Given the description of an element on the screen output the (x, y) to click on. 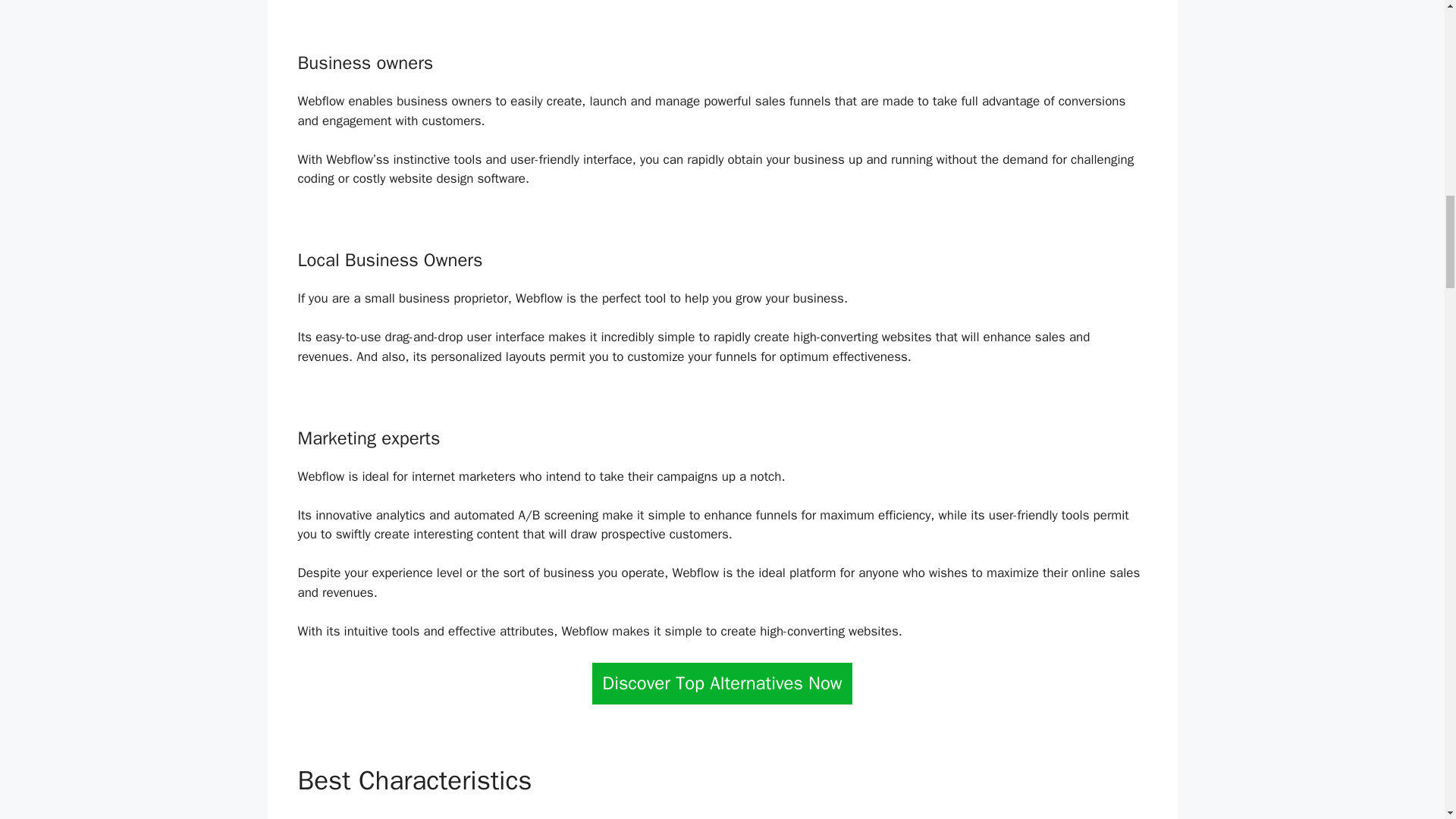
Discover Top Alternatives Now (721, 683)
